Given the description of an element on the screen output the (x, y) to click on. 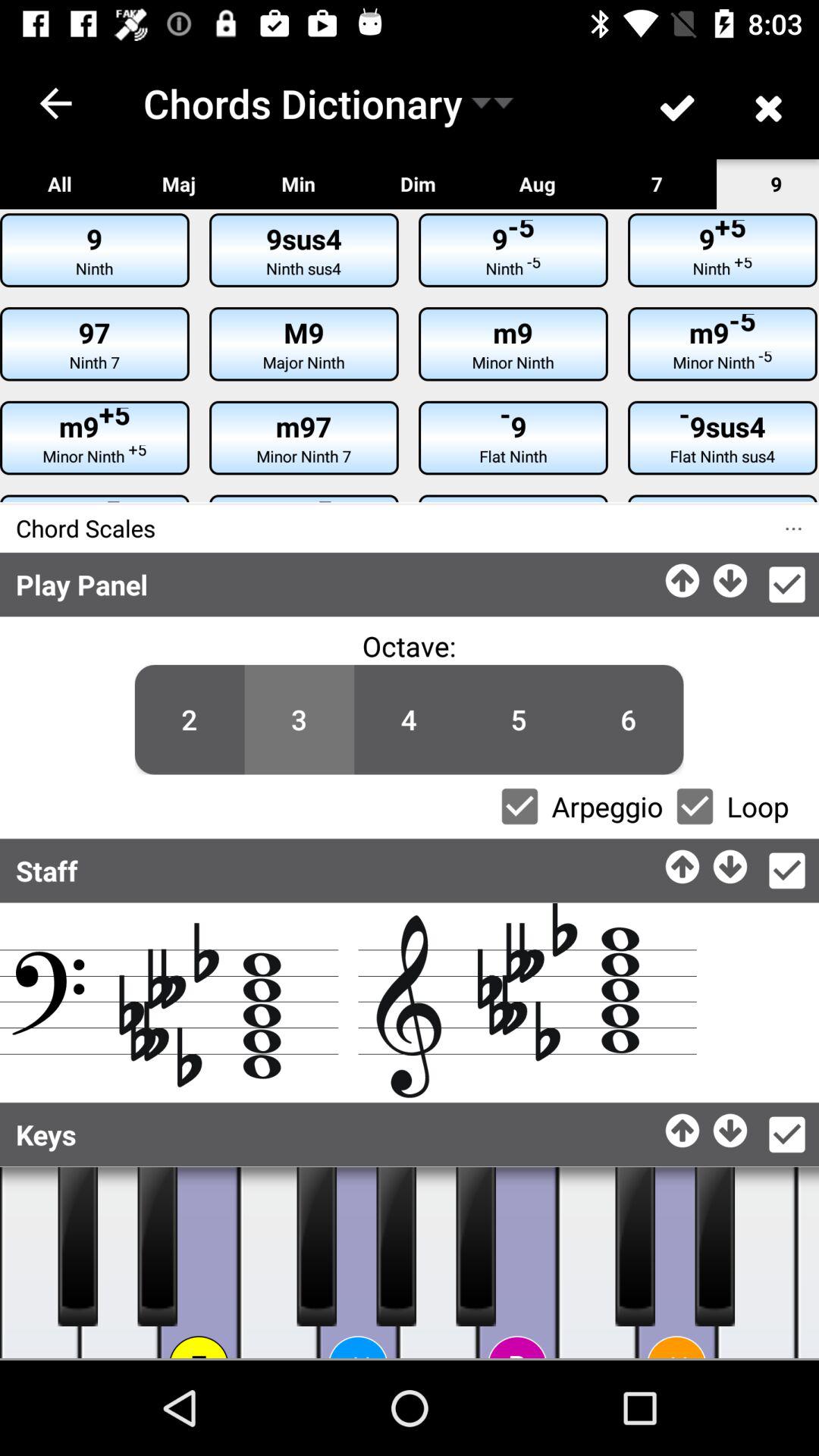
click the piano button (597, 1262)
